Given the description of an element on the screen output the (x, y) to click on. 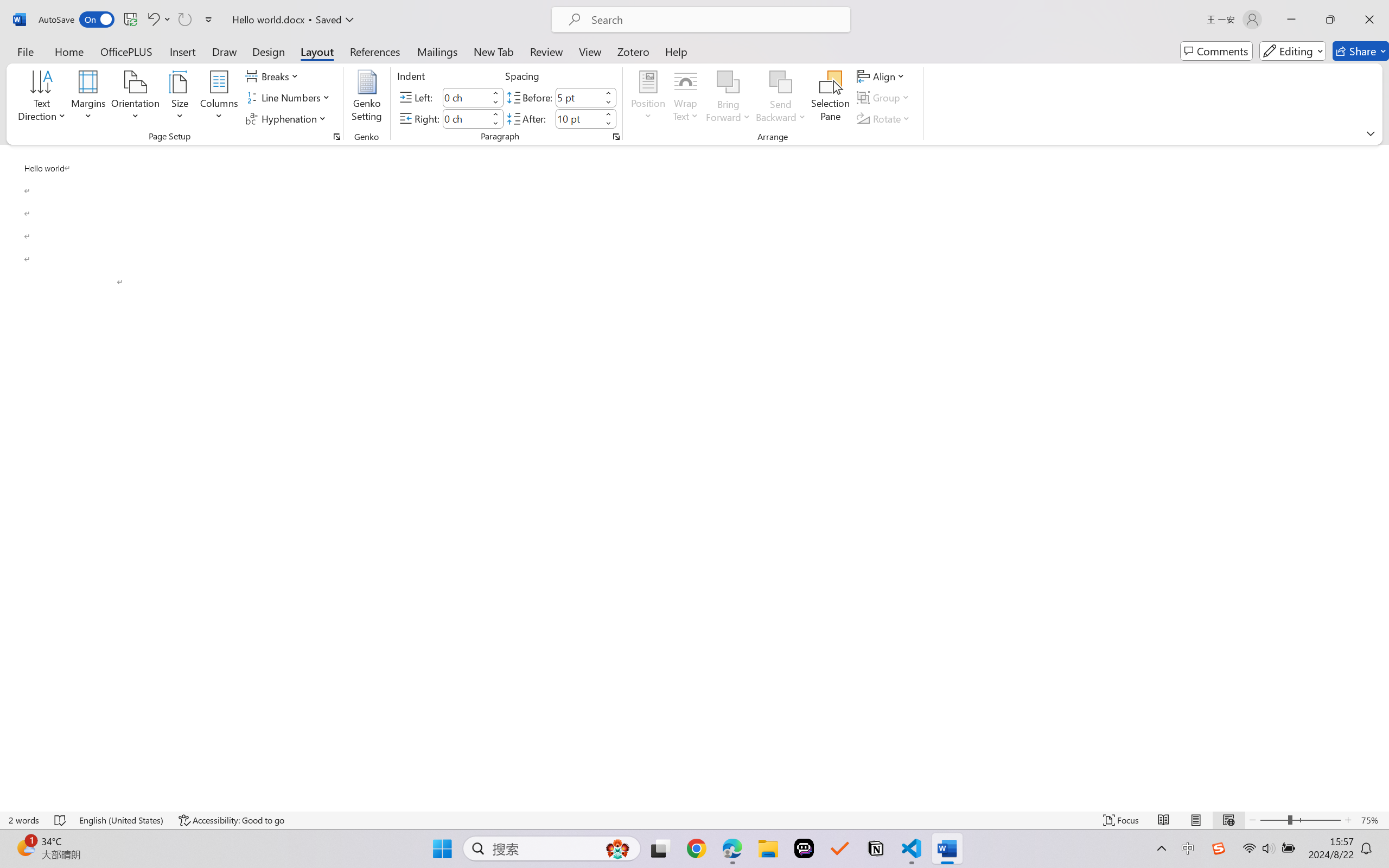
Comments (1216, 50)
Class: NetUIScrollBar (1382, 477)
New Tab (493, 51)
AutomationID: DynamicSearchBoxGleamImage (617, 848)
Rotate (884, 118)
Spelling and Grammar Check No Errors (60, 819)
Align (881, 75)
References (375, 51)
Insert (182, 51)
Mailings (437, 51)
Restore Down (1330, 19)
Zoom 75% (1372, 819)
Less (608, 123)
View (589, 51)
